Given the description of an element on the screen output the (x, y) to click on. 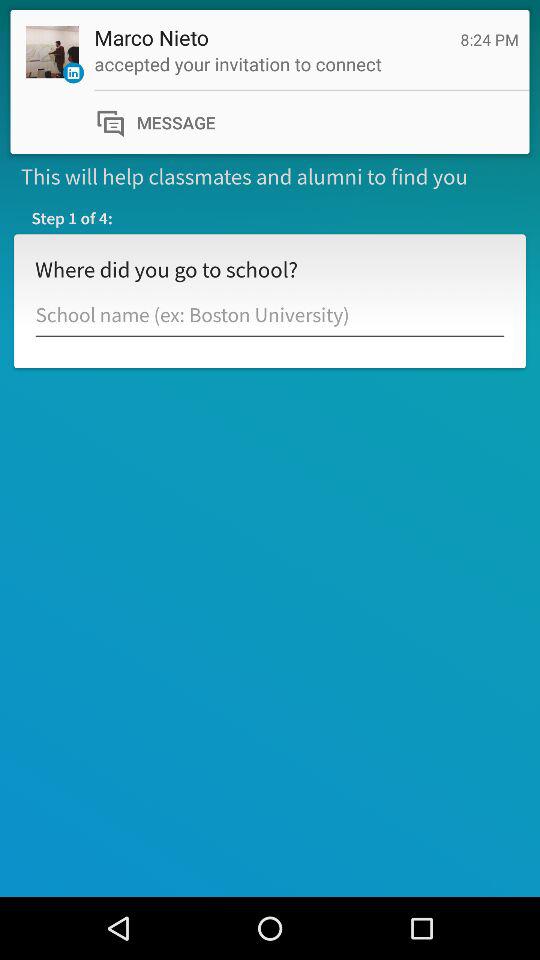
enter school name (269, 315)
